Given the description of an element on the screen output the (x, y) to click on. 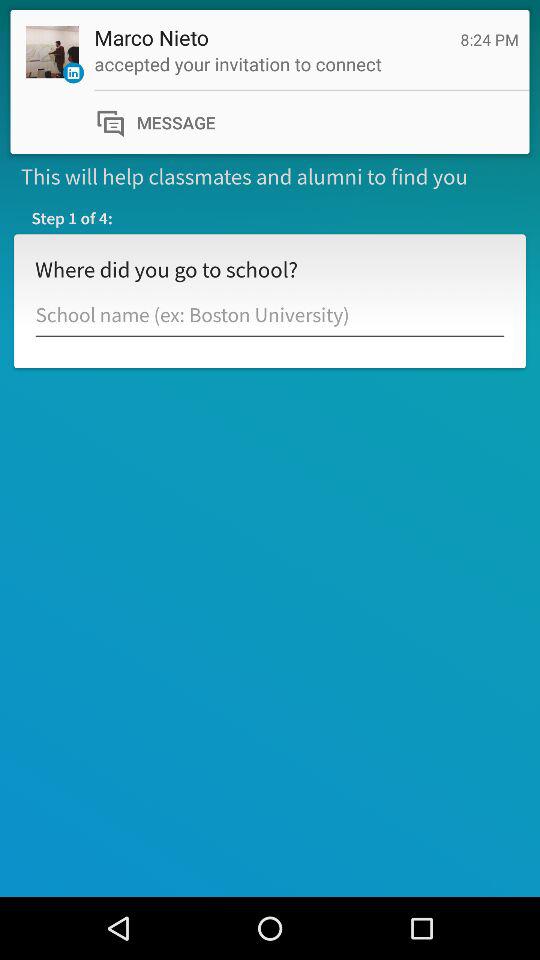
enter school name (269, 315)
